Given the description of an element on the screen output the (x, y) to click on. 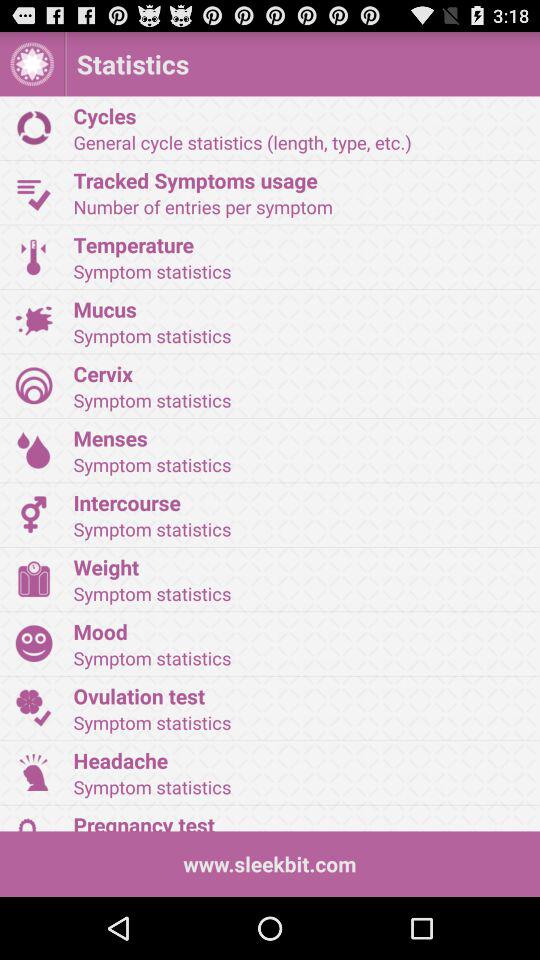
choose headache icon (299, 760)
